Given the description of an element on the screen output the (x, y) to click on. 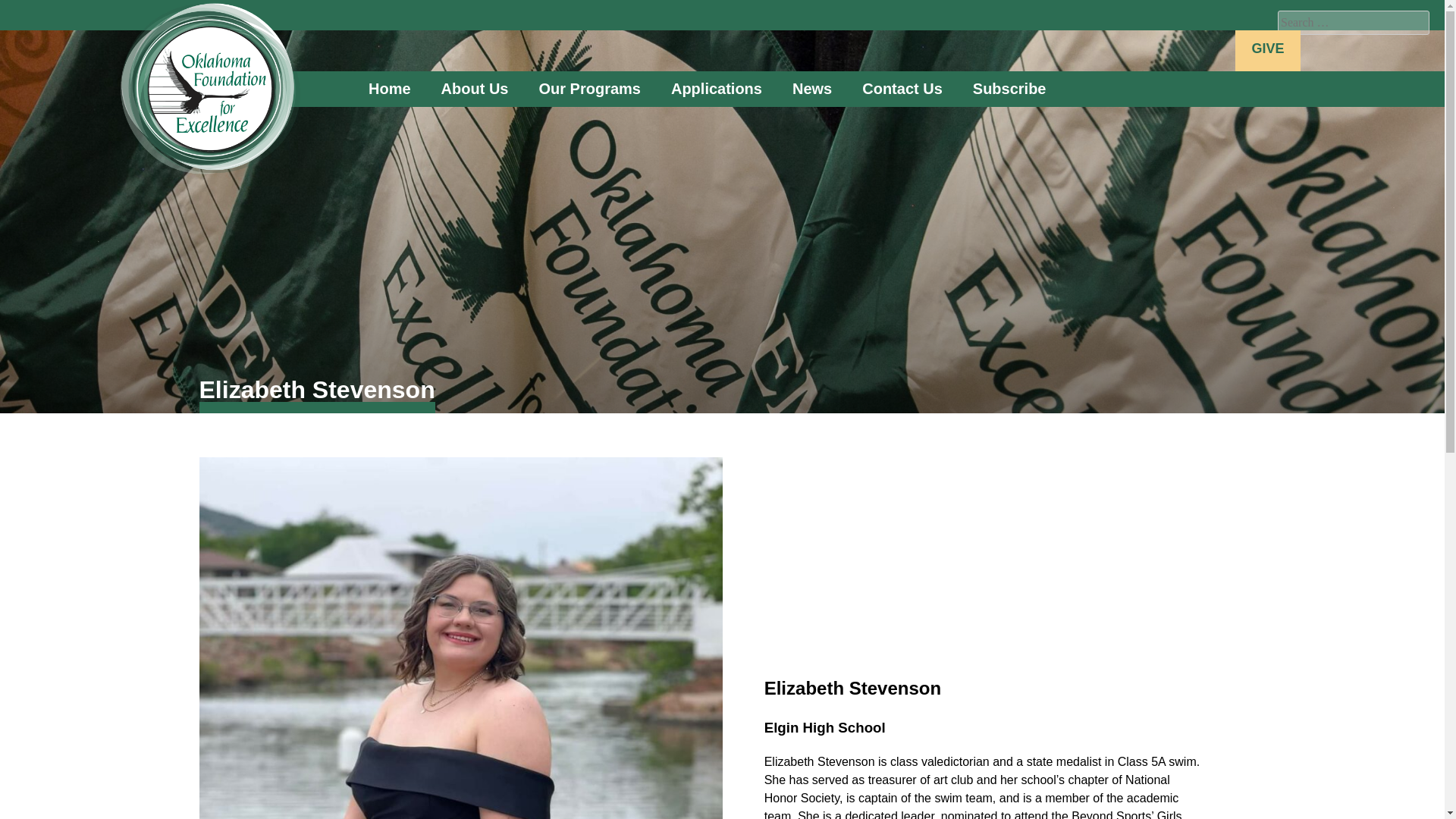
About Us (475, 88)
Home (389, 88)
Applications (716, 88)
Our Programs (588, 88)
GIVE (1267, 50)
